Given the description of an element on the screen output the (x, y) to click on. 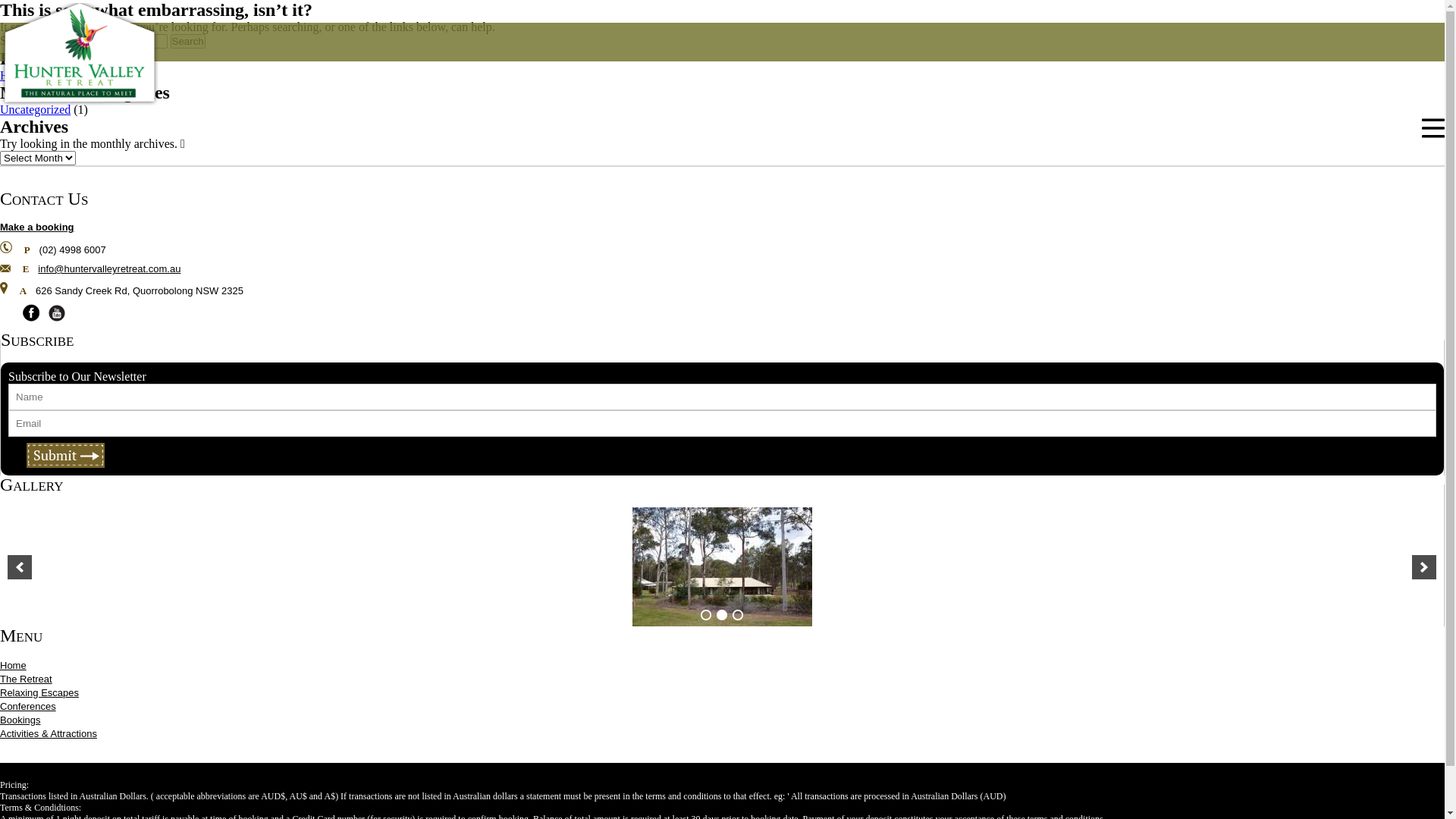
Make a booking Element type: text (37, 226)
Submit Element type: text (65, 454)
Conferences Element type: text (28, 706)
info@huntervalleyretreat.com.au Element type: text (108, 268)
Bookings Element type: text (20, 719)
Uncategorized Element type: text (35, 109)
Relaxing Escapes Element type: text (39, 692)
Hello world! Element type: text (31, 75)
Home Element type: text (13, 665)
Search Element type: text (187, 41)
The Retreat Element type: text (26, 678)
Activities & Attractions Element type: text (48, 733)
